Given the description of an element on the screen output the (x, y) to click on. 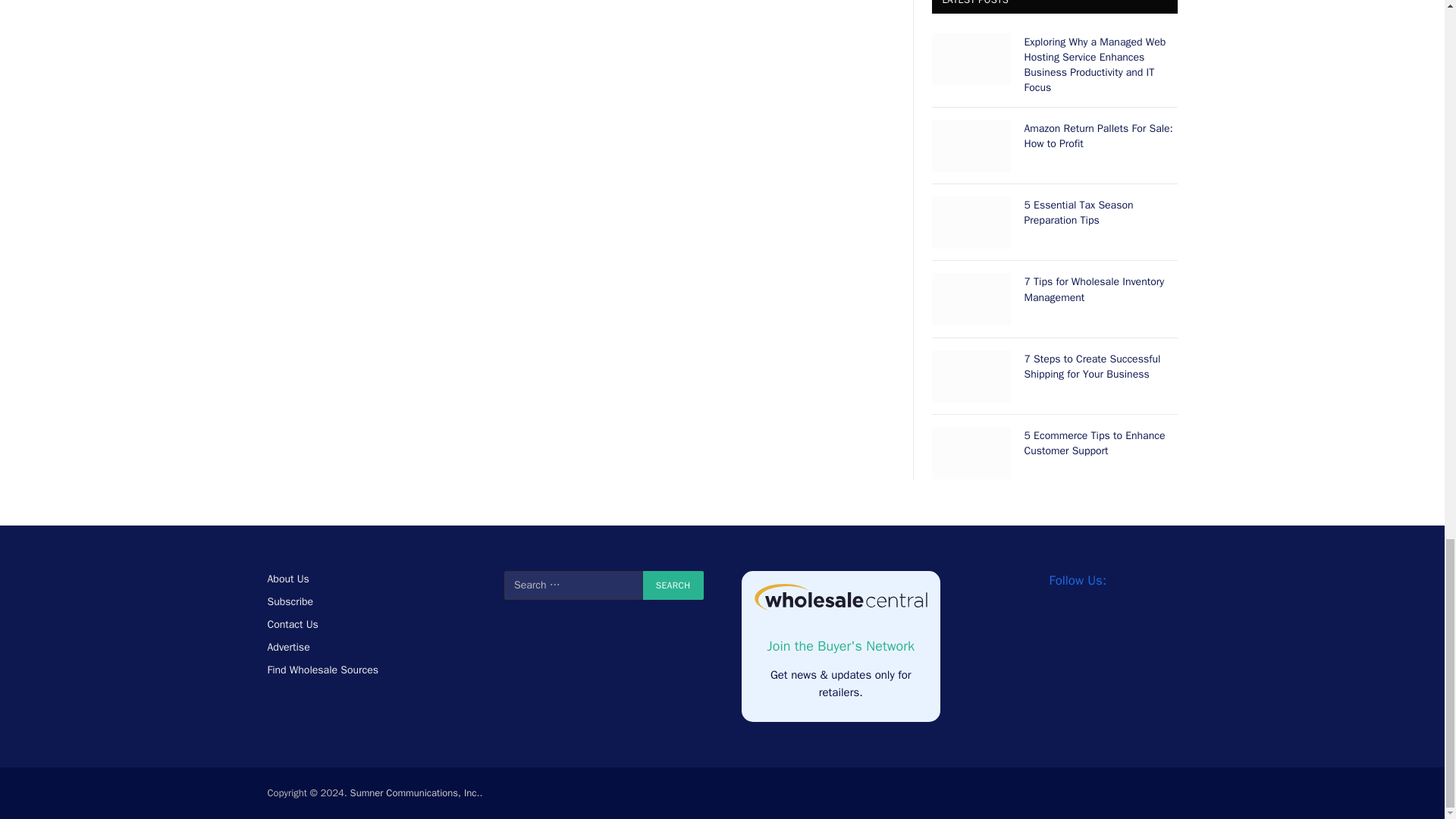
Search (673, 584)
Search (673, 584)
